Given the description of an element on the screen output the (x, y) to click on. 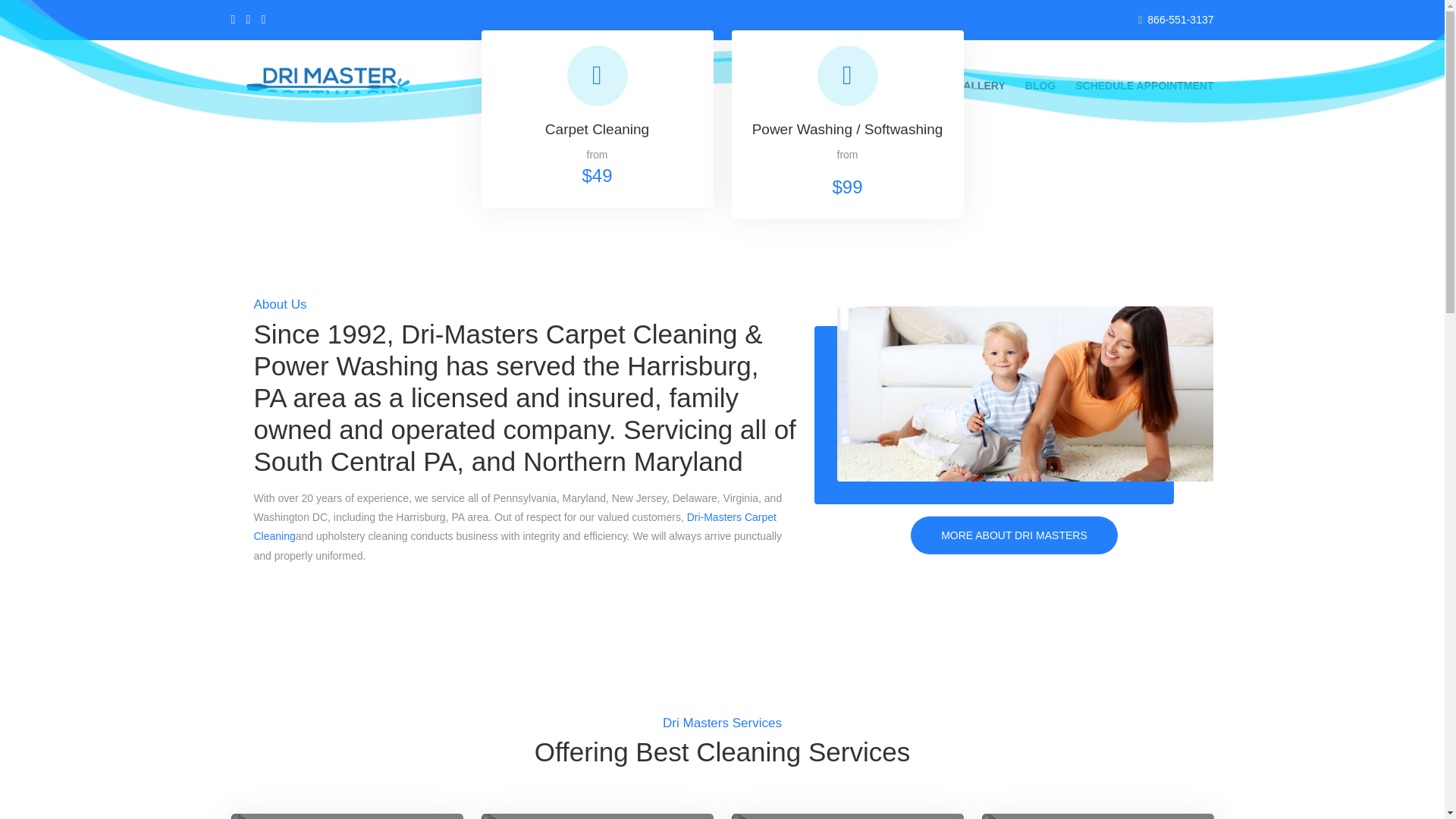
866-551-3137 (1179, 19)
SCHEDULE APPOINTMENT (1143, 85)
GALLERY (979, 85)
Dri-Masters Carpet Cleaning (514, 526)
WEB SPECIALS (895, 85)
MORE ABOUT DRI MASTERS (596, 105)
ABOUT US (1014, 535)
HOME (802, 85)
SERVICES (652, 85)
BLOG (719, 85)
